Given the description of an element on the screen output the (x, y) to click on. 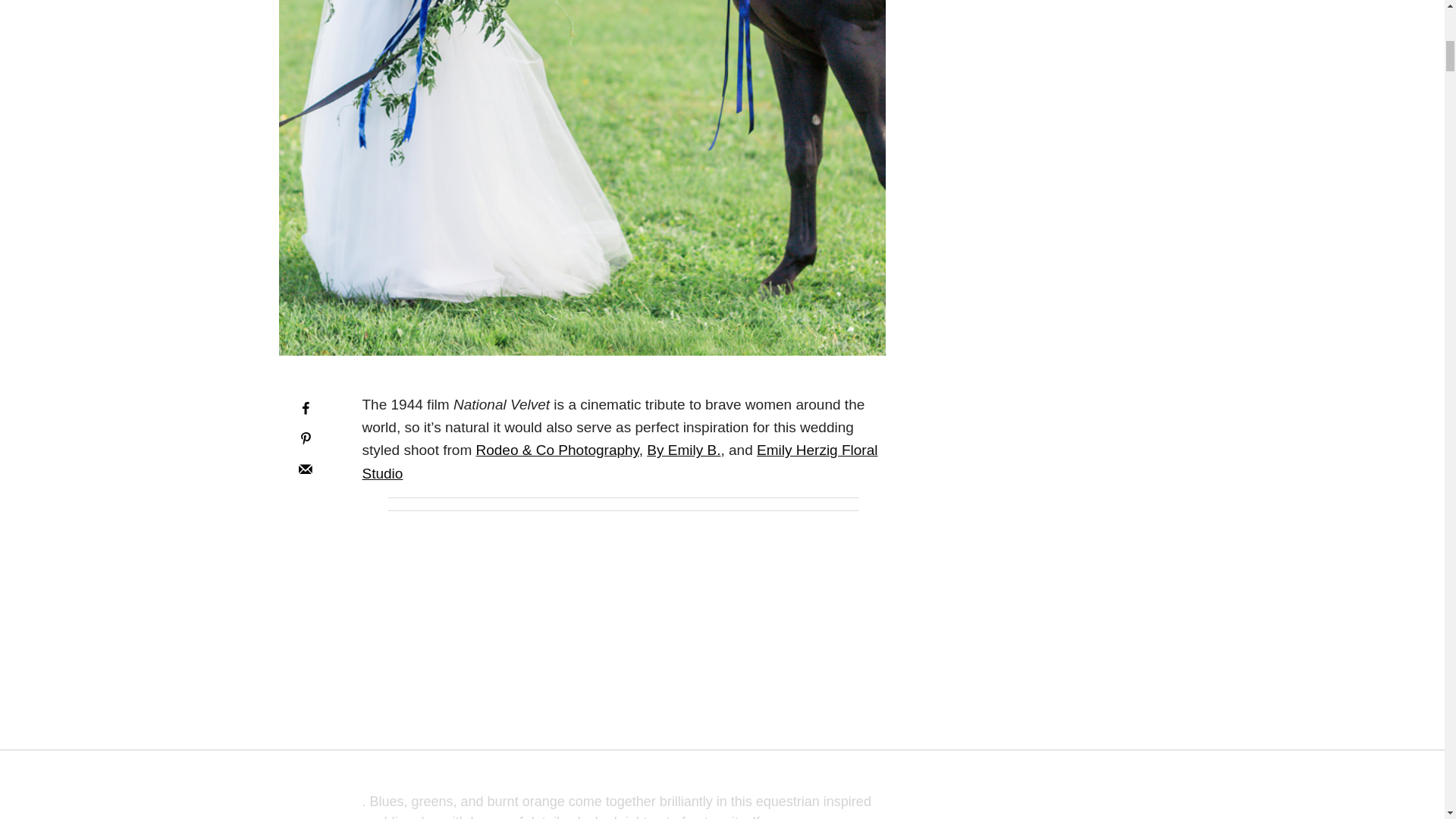
Emily Herzig Floral Studio (619, 461)
By Emily B. (683, 449)
